Given the description of an element on the screen output the (x, y) to click on. 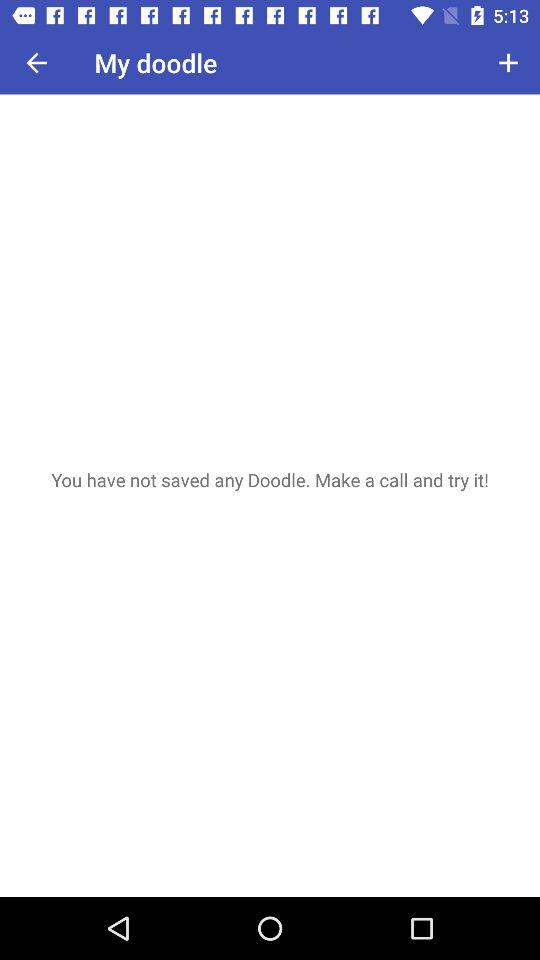
launch the item at the top right corner (508, 62)
